Given the description of an element on the screen output the (x, y) to click on. 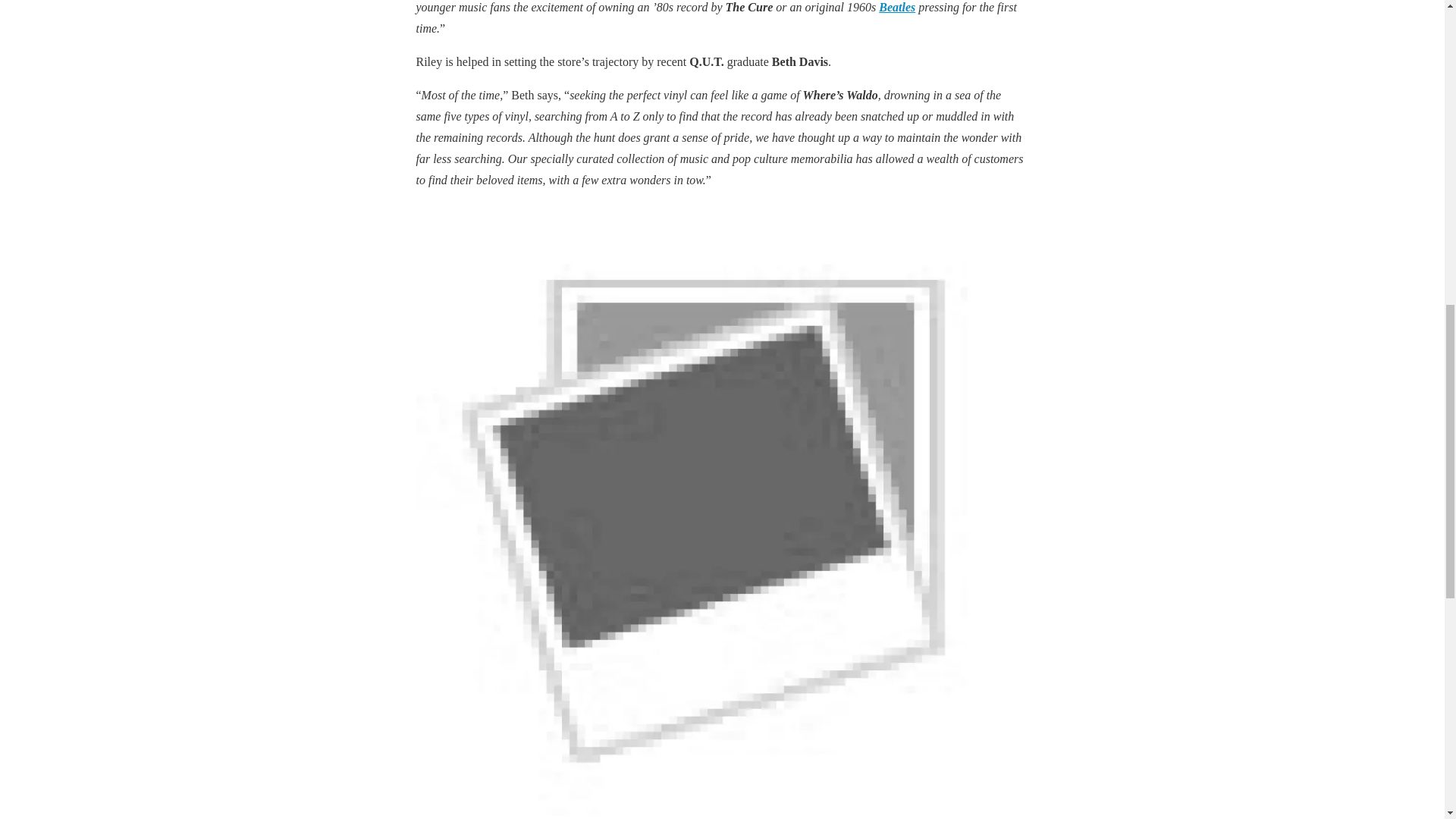
Beatles (897, 6)
